Given the description of an element on the screen output the (x, y) to click on. 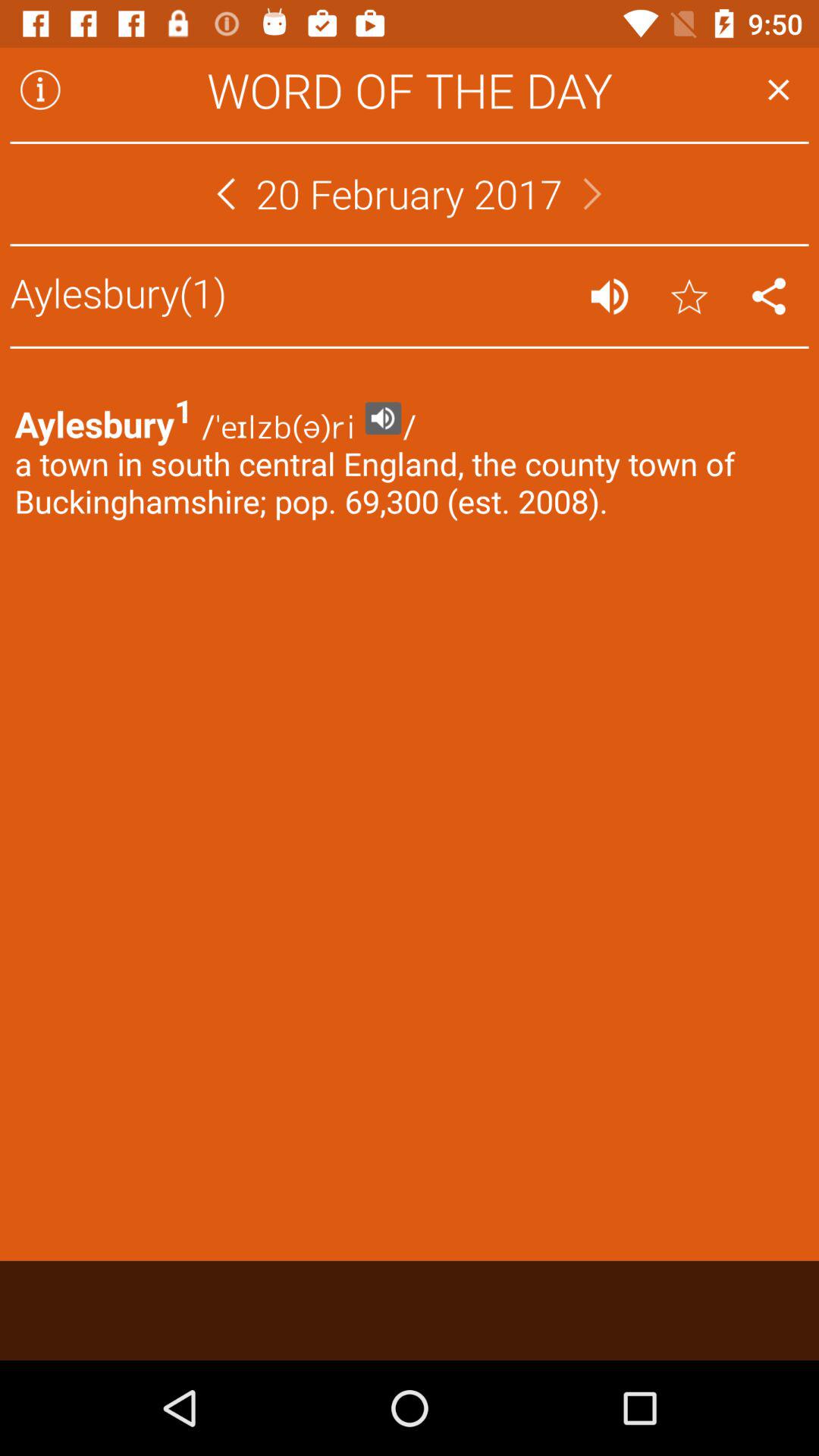
choose item at the center (409, 819)
